Given the description of an element on the screen output the (x, y) to click on. 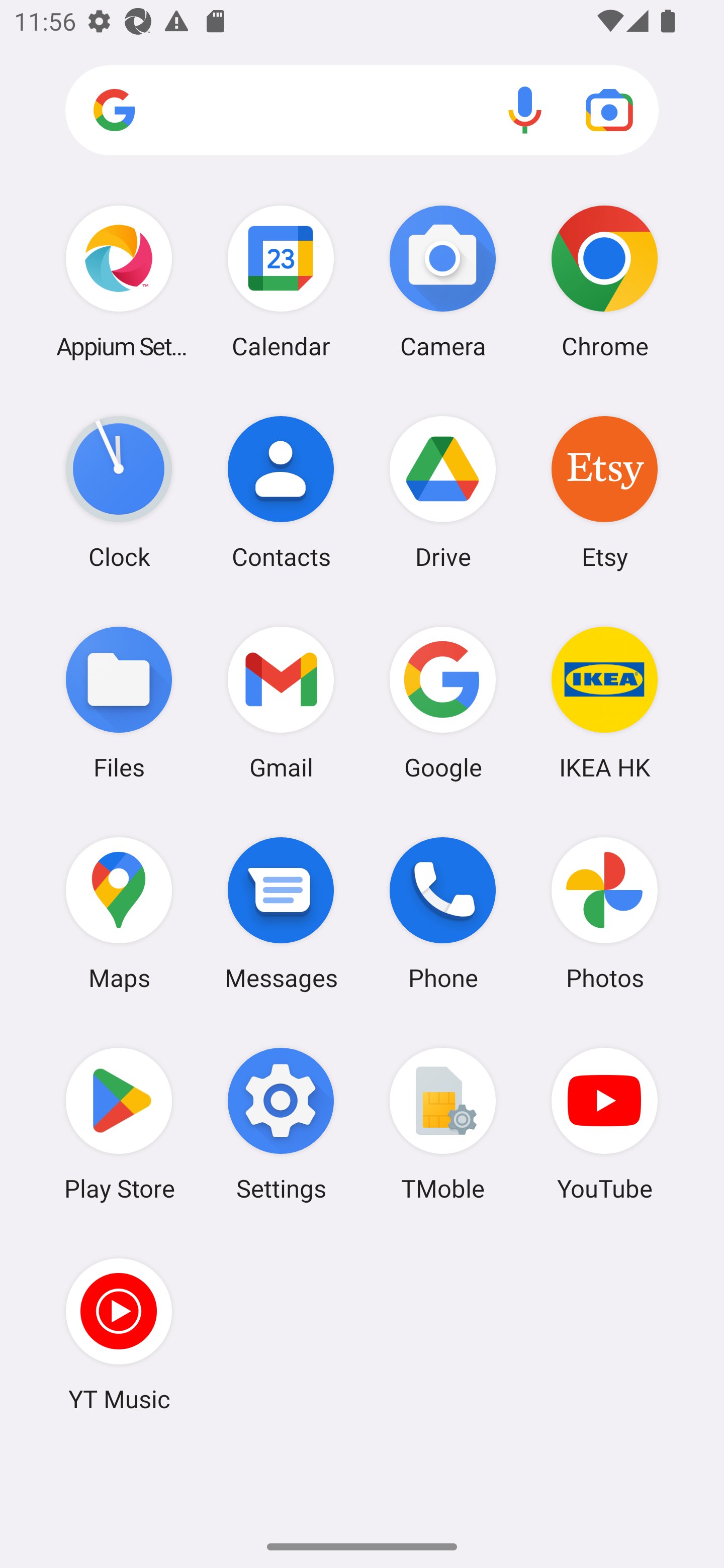
Search apps, web and more (361, 110)
Voice search (524, 109)
Google Lens (608, 109)
Appium Settings (118, 281)
Calendar (280, 281)
Camera (443, 281)
Chrome (604, 281)
Clock (118, 492)
Contacts (280, 492)
Drive (443, 492)
Etsy (604, 492)
Files (118, 702)
Gmail (280, 702)
Google (443, 702)
IKEA HK (604, 702)
Maps (118, 913)
Messages (280, 913)
Phone (443, 913)
Photos (604, 913)
Play Store (118, 1124)
Settings (280, 1124)
TMoble (443, 1124)
YouTube (604, 1124)
YT Music (118, 1334)
